Given the description of an element on the screen output the (x, y) to click on. 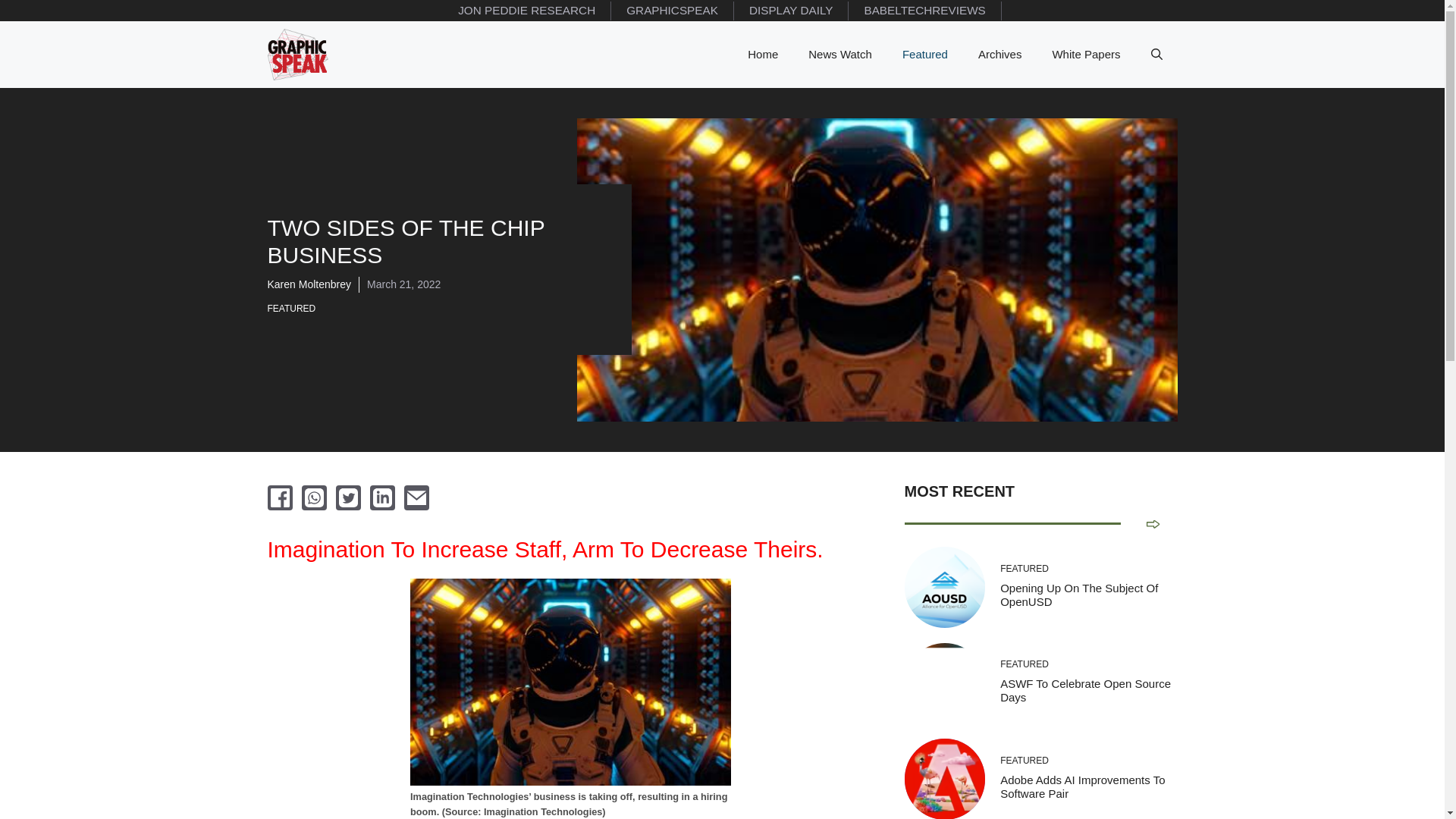
GRAPHICSPEAK (672, 10)
Karen Moltenbrey (308, 284)
BABELTECHREVIEWS (924, 10)
White Papers (1085, 54)
News Watch (839, 54)
Featured (924, 54)
Archives (999, 54)
Home (762, 54)
JON PEDDIE RESEARCH (526, 10)
DISPLAY DAILY (790, 10)
